Given the description of an element on the screen output the (x, y) to click on. 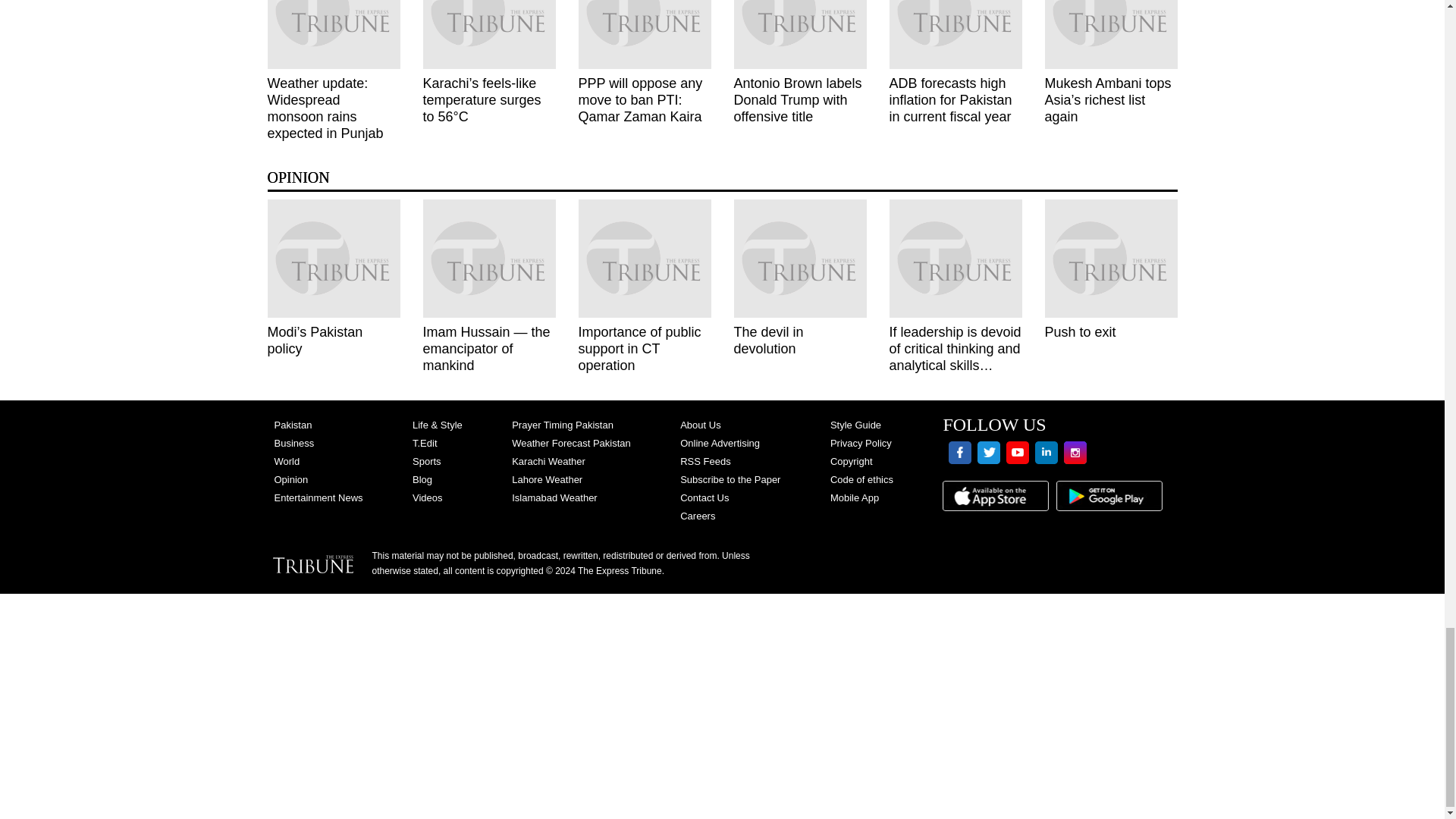
push to exit (1111, 258)
imam hussain the emancipator of mankind (489, 258)
ppp will oppose any move to ban pti qamar zaman kaira (644, 34)
importance of public support in ct operation (644, 258)
antonio brown labels donald trump with offensive title (799, 34)
mukesh ambani tops asia s richest list again (1111, 34)
the devil in devolution (799, 258)
karachi s feels like temperature surges to 56 c (489, 34)
modi s pakistan policy (332, 258)
weather update widespread monsoon rains expected in punjab (332, 34)
